Given the description of an element on the screen output the (x, y) to click on. 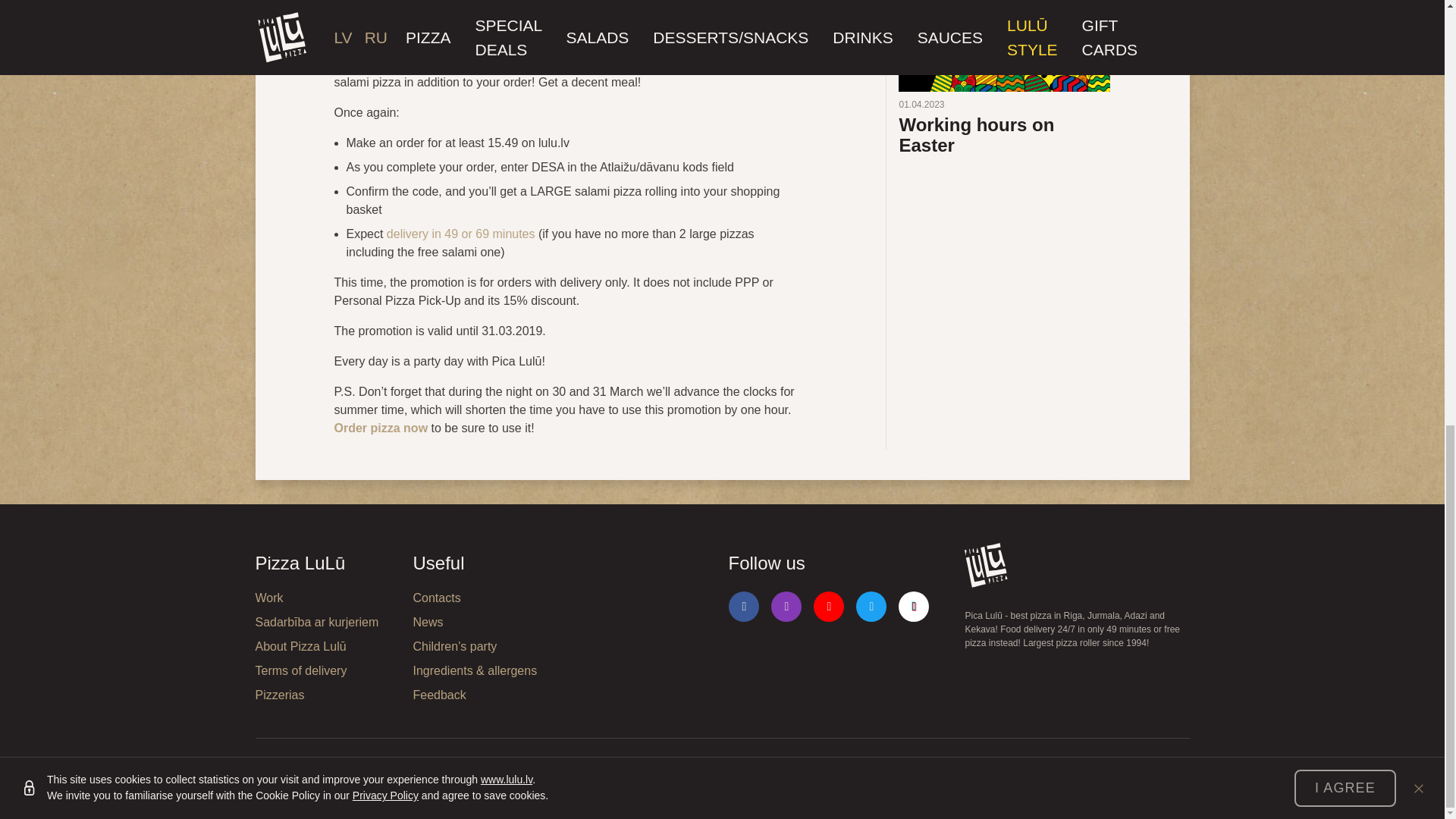
Ingredients and allergens in pizzas and meals (484, 671)
News (484, 622)
Job vacancies in Pica Lulu. Application (327, 598)
Work (327, 598)
Terms of delivery (327, 671)
About Pizza Lulu (327, 646)
Working hours on Easter (1003, 78)
Order pizza now (380, 427)
Contacts (484, 598)
